Given the description of an element on the screen output the (x, y) to click on. 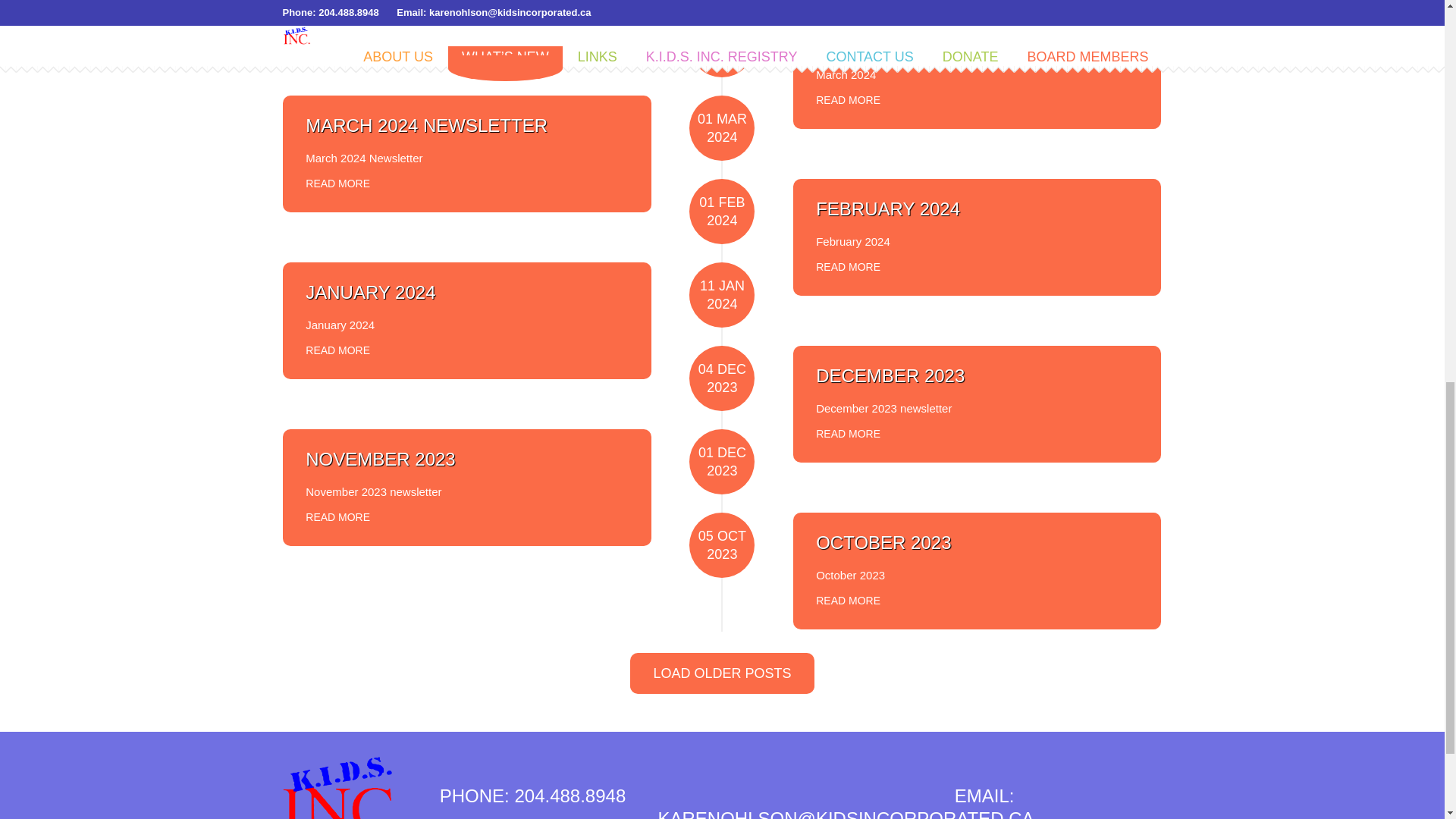
READ MORE (337, 179)
READ MORE (847, 596)
READ MORE (337, 345)
MARCH 2024 NEWSLETTER (936, 41)
DECEMBER 2023 (889, 375)
READ MORE (847, 96)
NOVEMBER 2023 (379, 458)
FEBRUARY 2024 (887, 209)
JANUARY 2024 (370, 291)
LOAD OLDER POSTS (721, 672)
READ MORE (337, 513)
READ MORE (337, 12)
READ MORE (847, 429)
READ MORE (847, 262)
MARCH 2024 NEWSLETTER (426, 125)
